Given the description of an element on the screen output the (x, y) to click on. 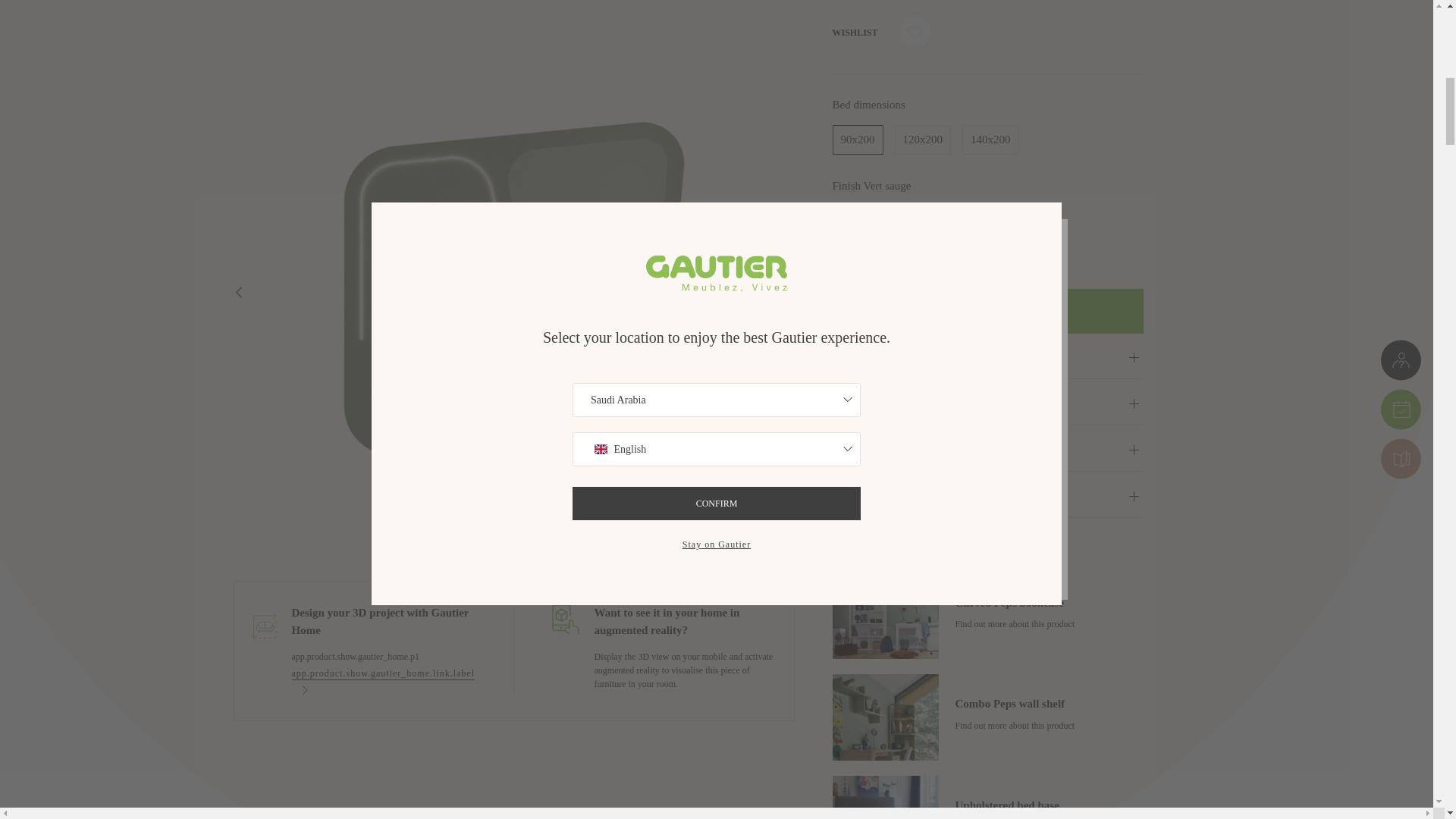
Add to wishlist (914, 32)
